Given the description of an element on the screen output the (x, y) to click on. 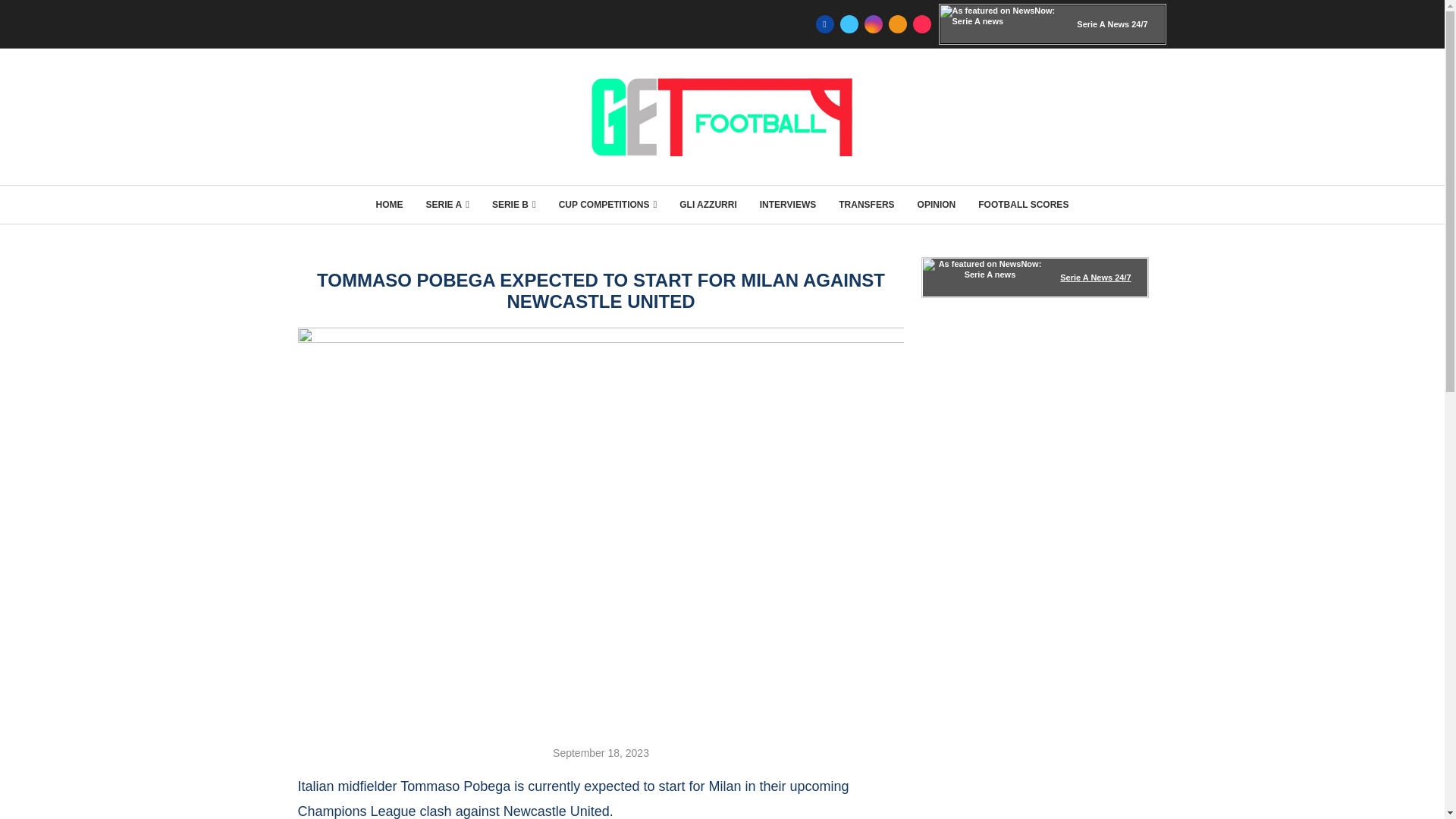
SERIE A (447, 204)
SERIE B (513, 204)
Click here for more Italian football news from NewsNow (1052, 24)
HOME (389, 204)
Click here for more Italian football news from NewsNow (1034, 277)
